Given the description of an element on the screen output the (x, y) to click on. 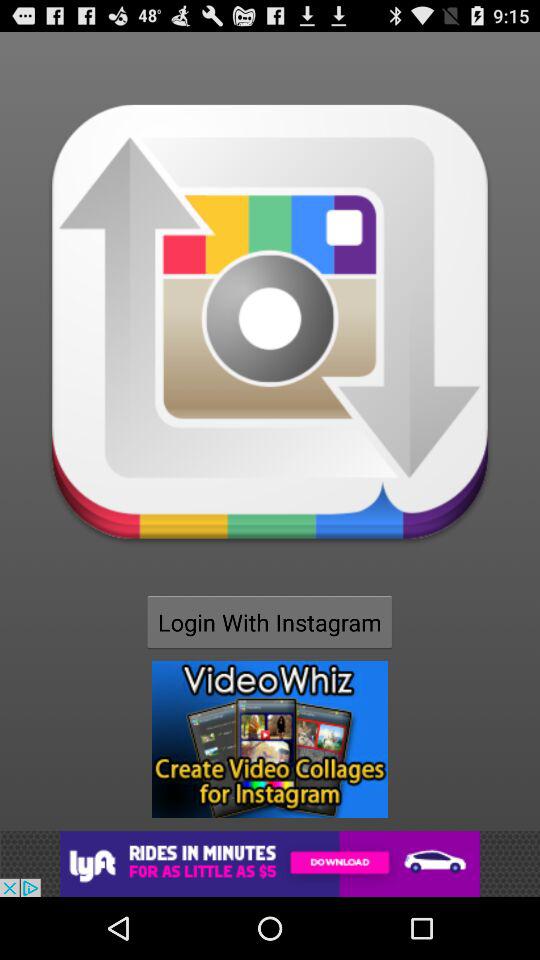
open advertisement (269, 739)
